Given the description of an element on the screen output the (x, y) to click on. 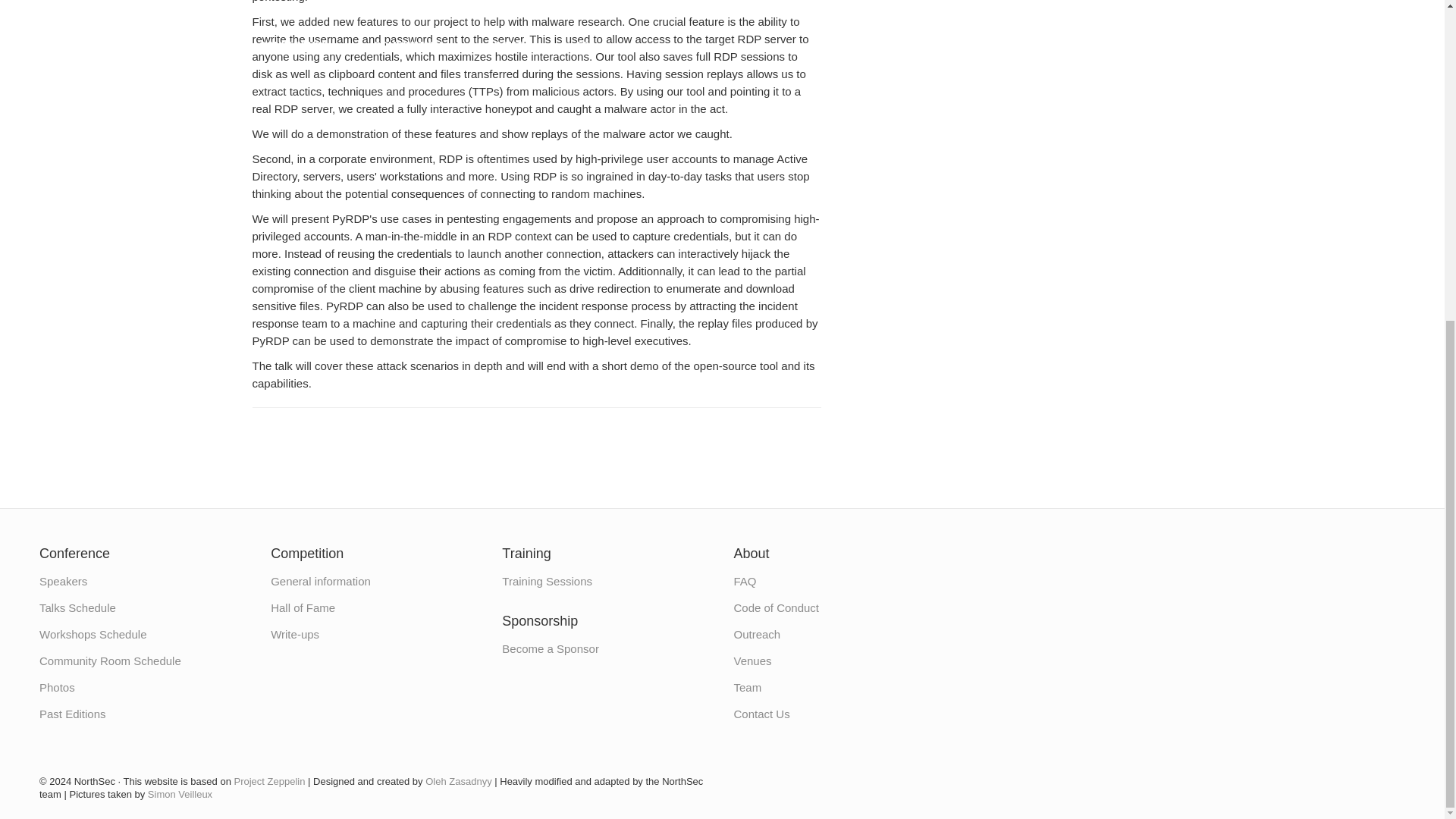
General information (320, 581)
Past Editions (72, 713)
Talks Schedule (77, 607)
Speakers (63, 581)
Photos (57, 686)
Workshops Schedule (93, 634)
Community Room Schedule (109, 660)
Hall of Fame (302, 607)
Write-ups (294, 634)
